Given the description of an element on the screen output the (x, y) to click on. 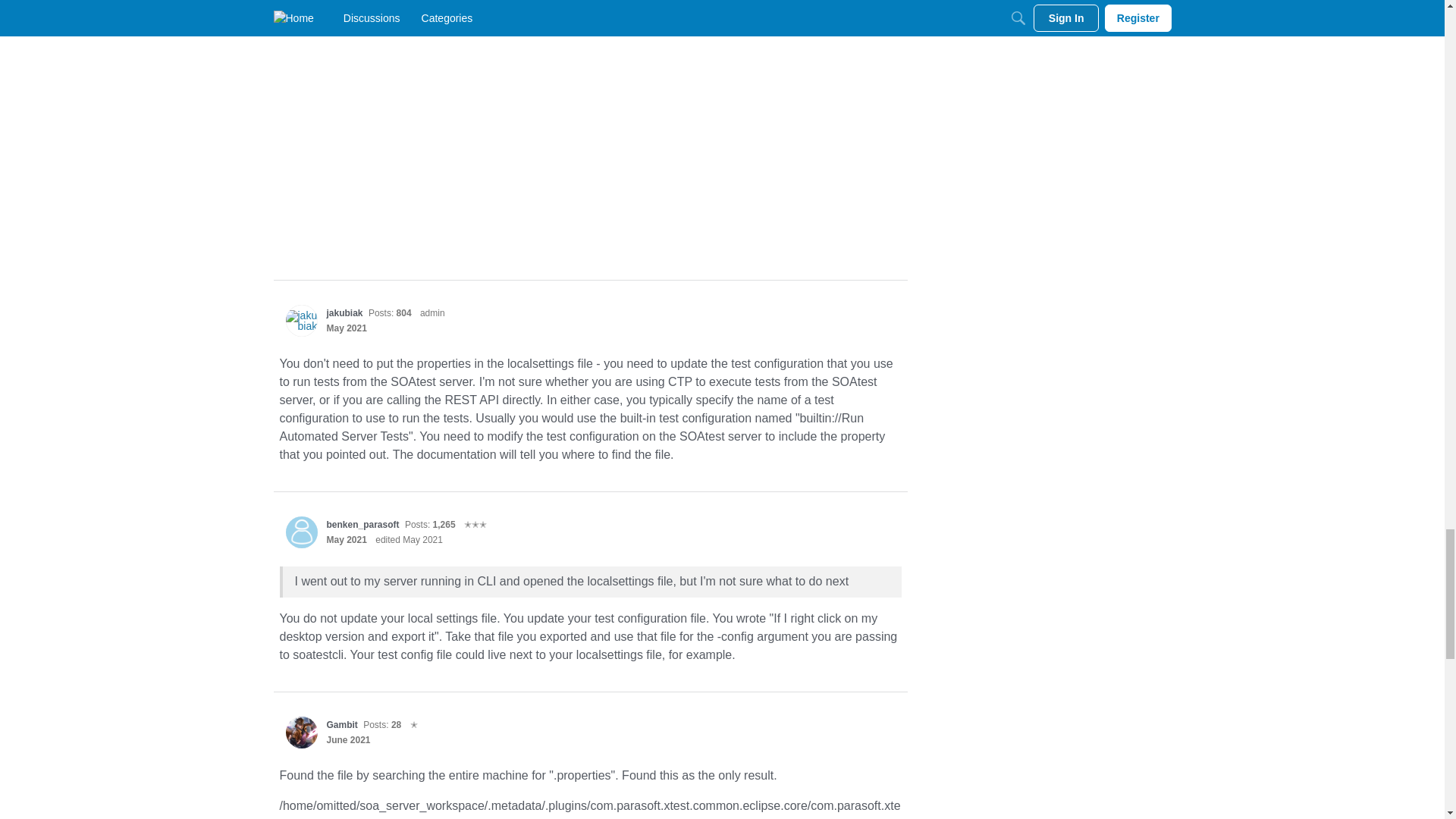
May 2021 (346, 327)
May 19, 2021 8:22PM (346, 327)
May 2021 (346, 539)
June 2021 (347, 739)
Gambit (341, 724)
Administrator (432, 313)
jakubiak (344, 312)
jakubiak (301, 320)
